Given the description of an element on the screen output the (x, y) to click on. 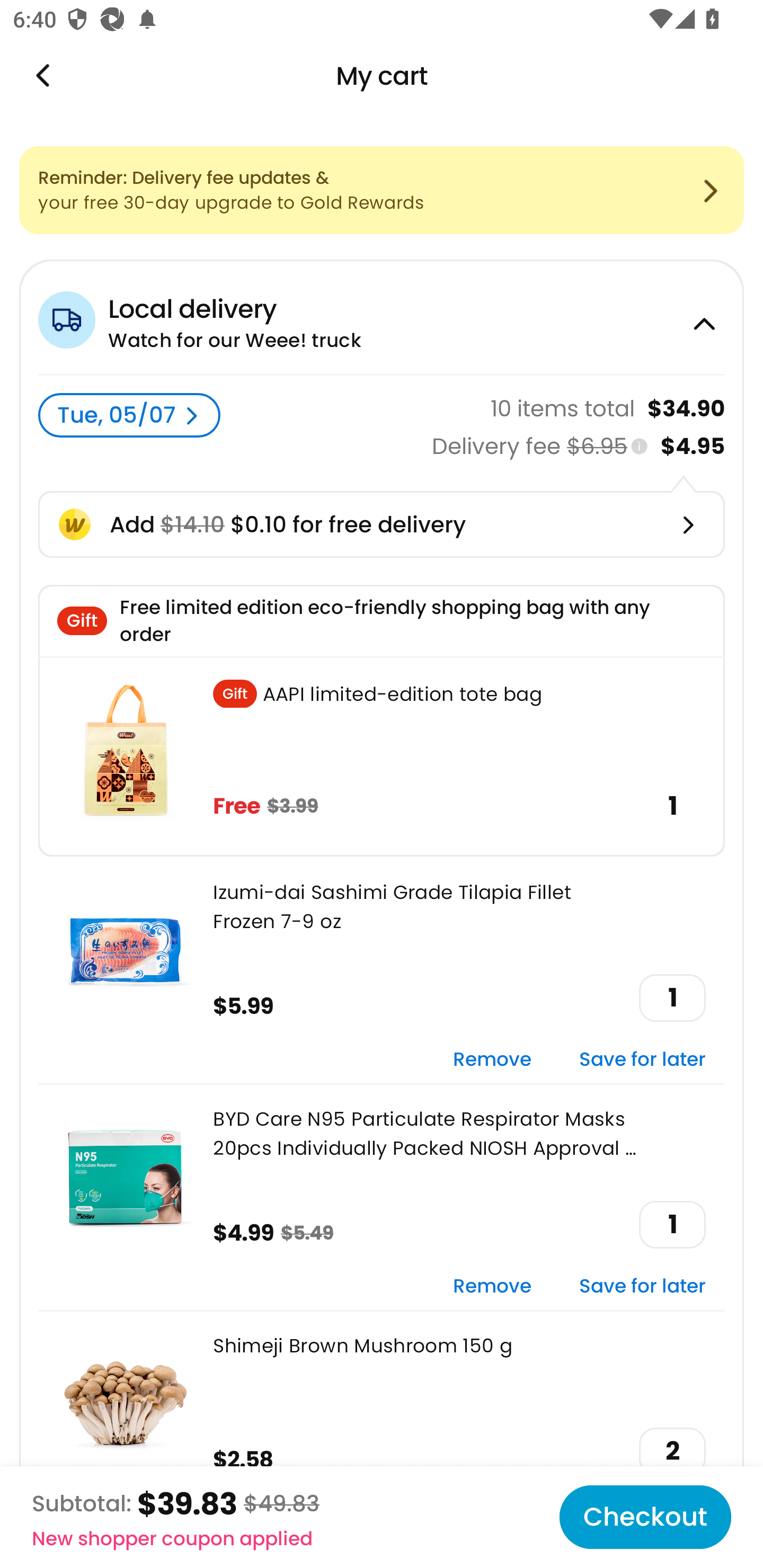
Local delivery Watch for our Weee! truck (381, 317)
Tue, 05/07 (129, 415)
Add $14.10 $0.10 for free delivery (381, 524)
. AAPI limited-edition tote bag Free $3.99 1 (381, 756)
1 (672, 997)
Remove (491, 1060)
Save for later (642, 1060)
1 (672, 1224)
Remove (491, 1286)
Save for later (642, 1286)
2 (672, 1450)
Checkout (644, 1516)
